Given the description of an element on the screen output the (x, y) to click on. 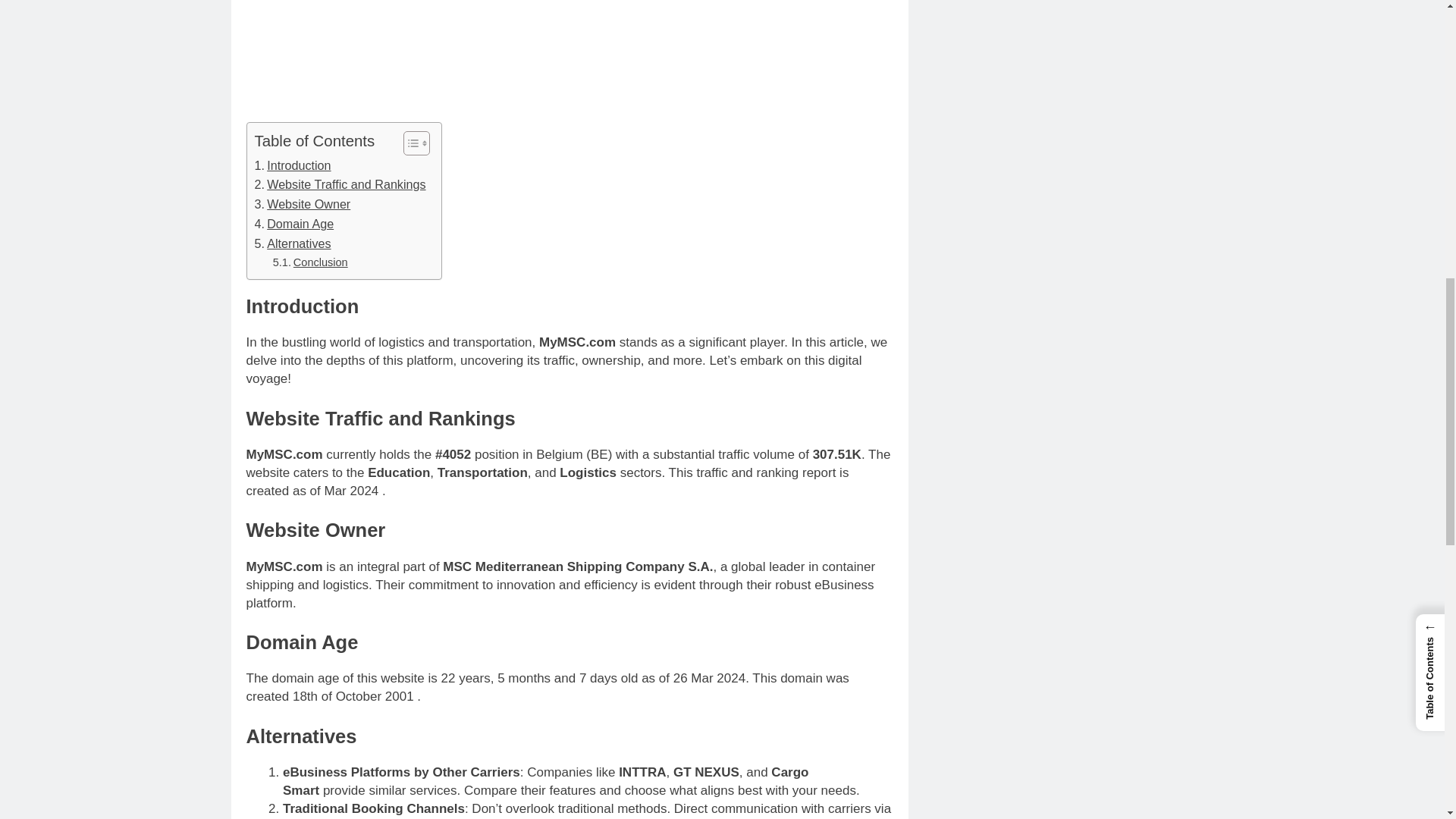
Website Traffic and Rankings (340, 184)
Alternatives (292, 243)
Website Owner (302, 204)
Introduction (292, 166)
Domain Age (294, 224)
Conclusion (310, 262)
